Given the description of an element on the screen output the (x, y) to click on. 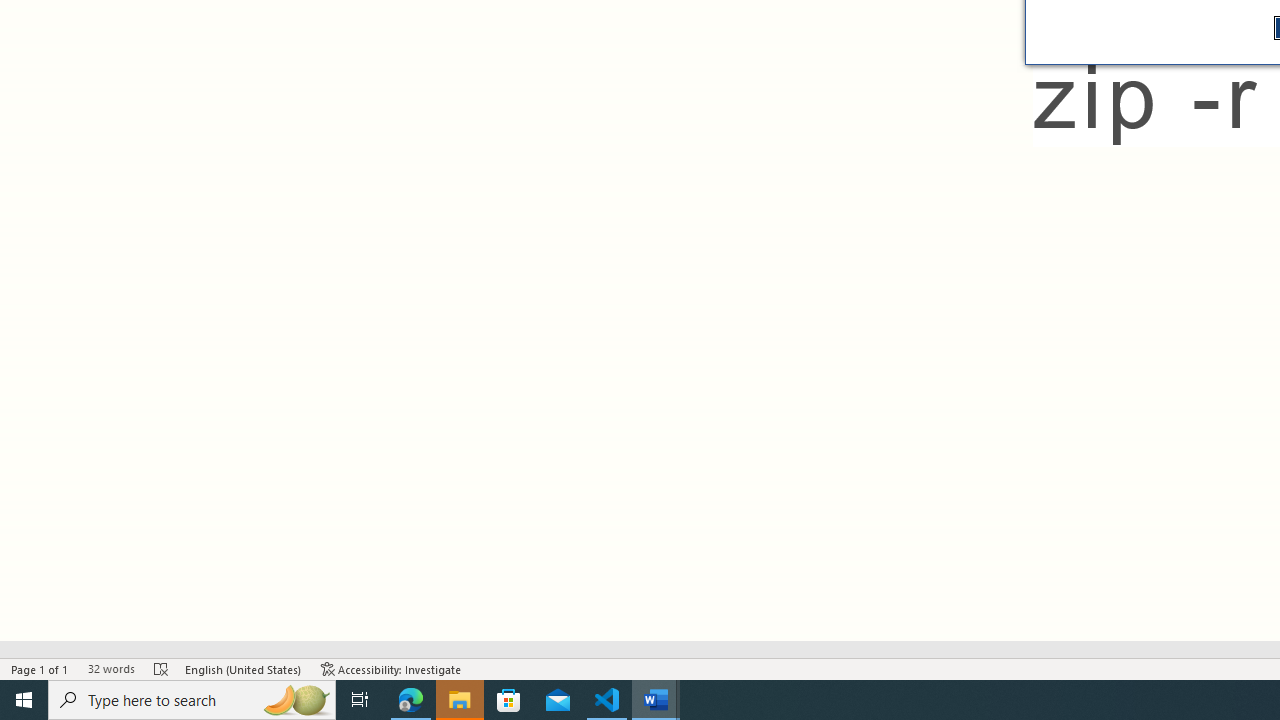
Word Count 32 words (111, 668)
Accessibility Checker Accessibility: Investigate (391, 668)
Microsoft Store (509, 699)
Start (24, 699)
Spelling and Grammar Check Errors (161, 668)
Task View (359, 699)
Word - 2 running windows (656, 699)
Search highlights icon opens search home window (295, 699)
Type here to search (191, 699)
Visual Studio Code - 1 running window (607, 699)
Microsoft Edge - 1 running window (411, 699)
Language English (United States) (243, 668)
Page Number Page 1 of 1 (39, 668)
File Explorer - 1 running window (460, 699)
